Given the description of an element on the screen output the (x, y) to click on. 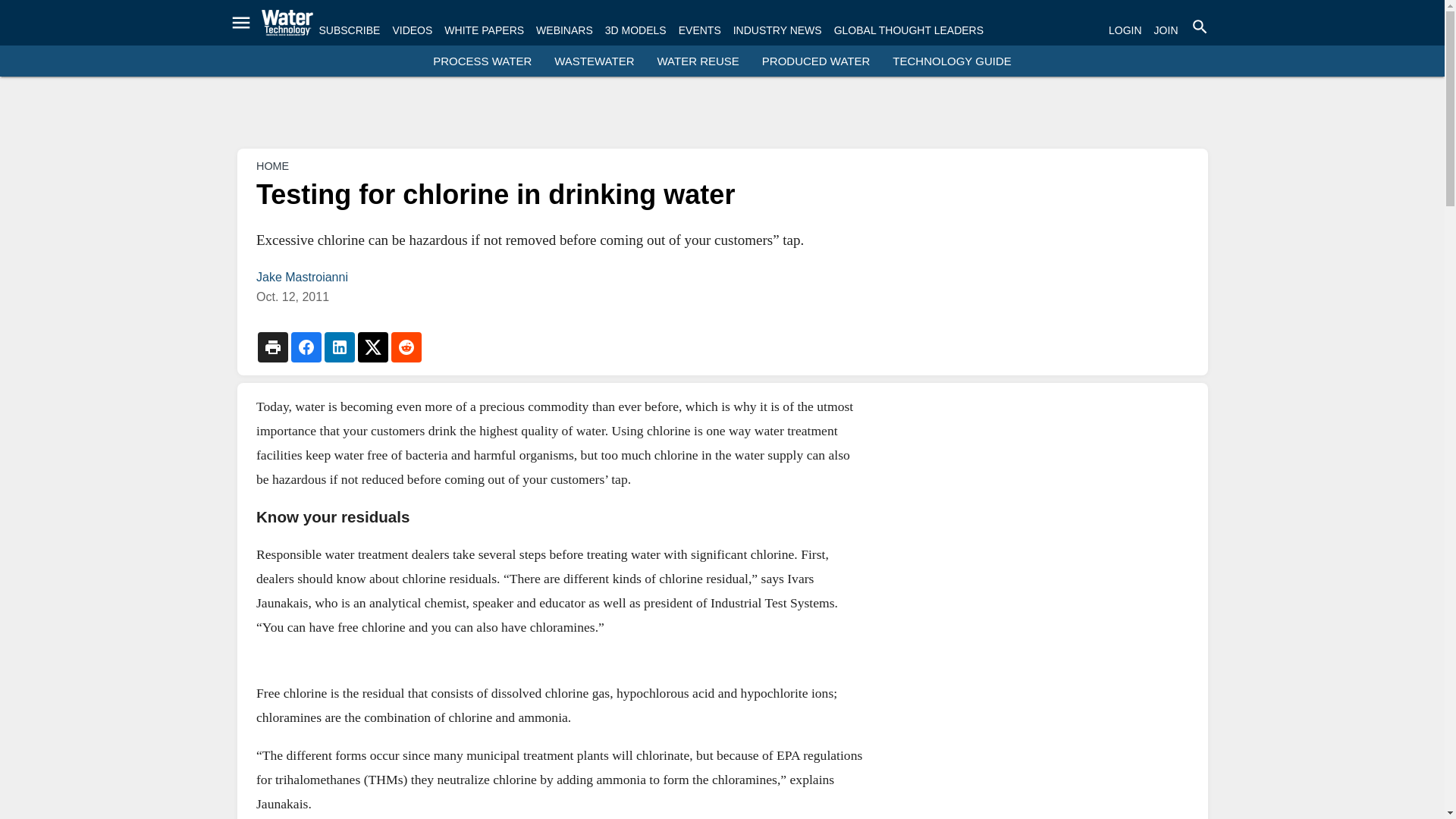
TECHNOLOGY GUIDE (951, 60)
SUBSCRIBE (349, 30)
INDUSTRY NEWS (777, 30)
EVENTS (699, 30)
JOIN (1165, 30)
PRODUCED WATER (815, 60)
HOME (272, 165)
WHITE PAPERS (484, 30)
PROCESS WATER (481, 60)
GLOBAL THOUGHT LEADERS (909, 30)
